Given the description of an element on the screen output the (x, y) to click on. 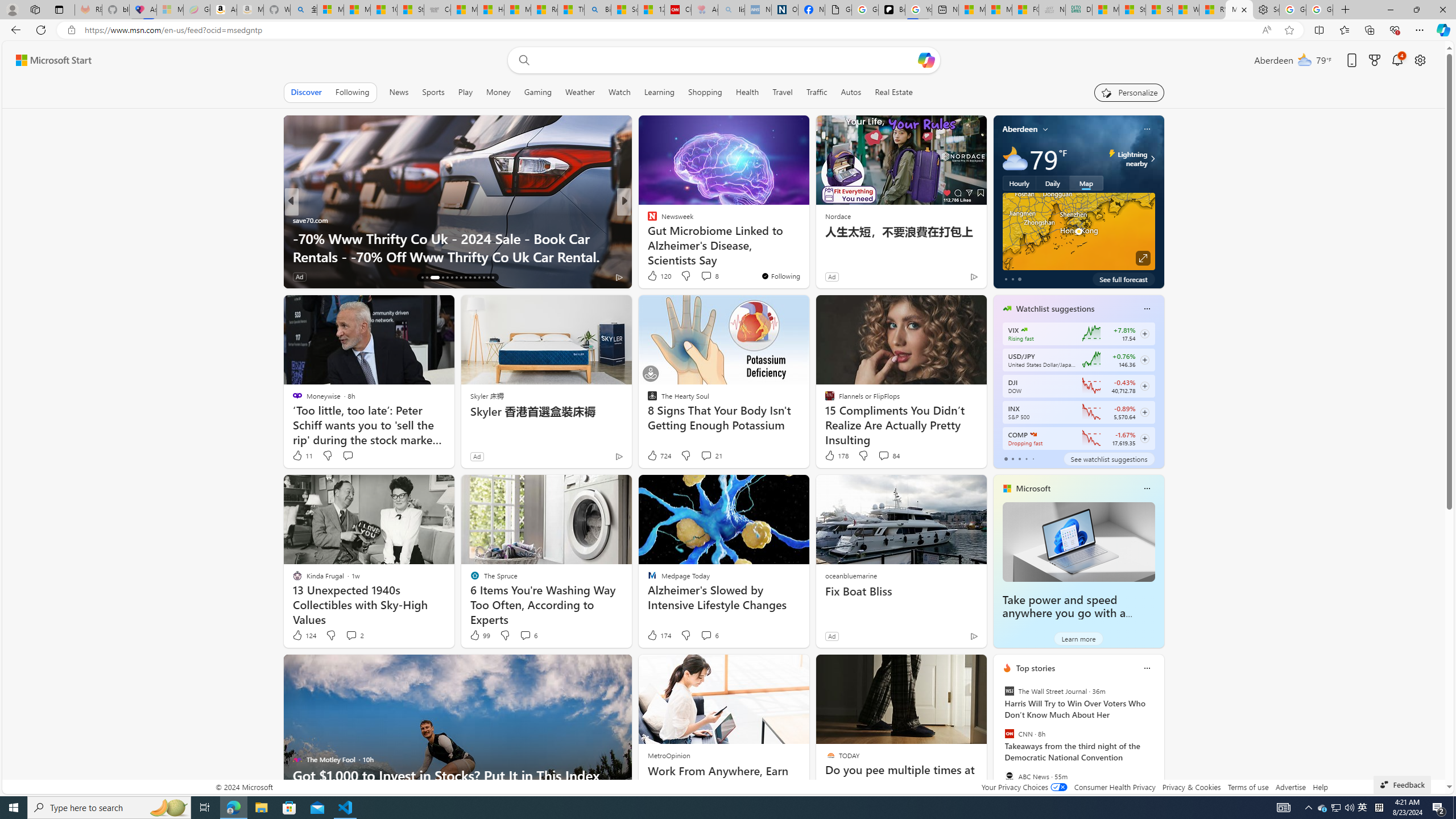
View comments 6 Comment (709, 634)
AutomationID: tab-27 (478, 277)
oceanbluemarine (850, 574)
Your Privacy Choices (1024, 786)
EatingWell (647, 219)
tab-3 (1025, 458)
CBOE Market Volatility Index (1023, 329)
View comments 66 Comment (352, 276)
249 Like (654, 276)
